Given the description of an element on the screen output the (x, y) to click on. 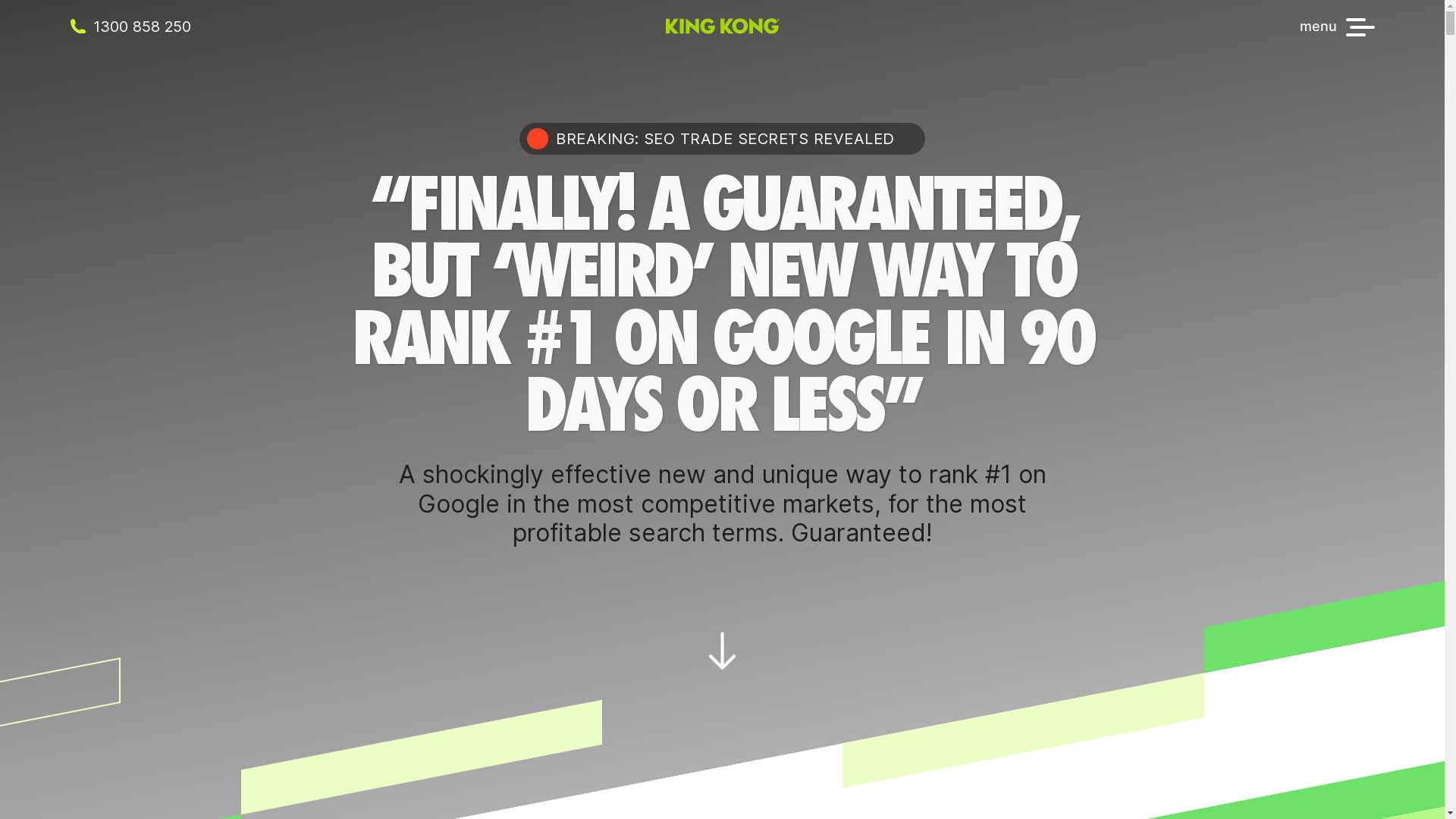
1300 858 250 Element type: text (145, 25)
menu Element type: text (1336, 25)
Get my free report Element type: text (722, 553)
